Given the description of an element on the screen output the (x, y) to click on. 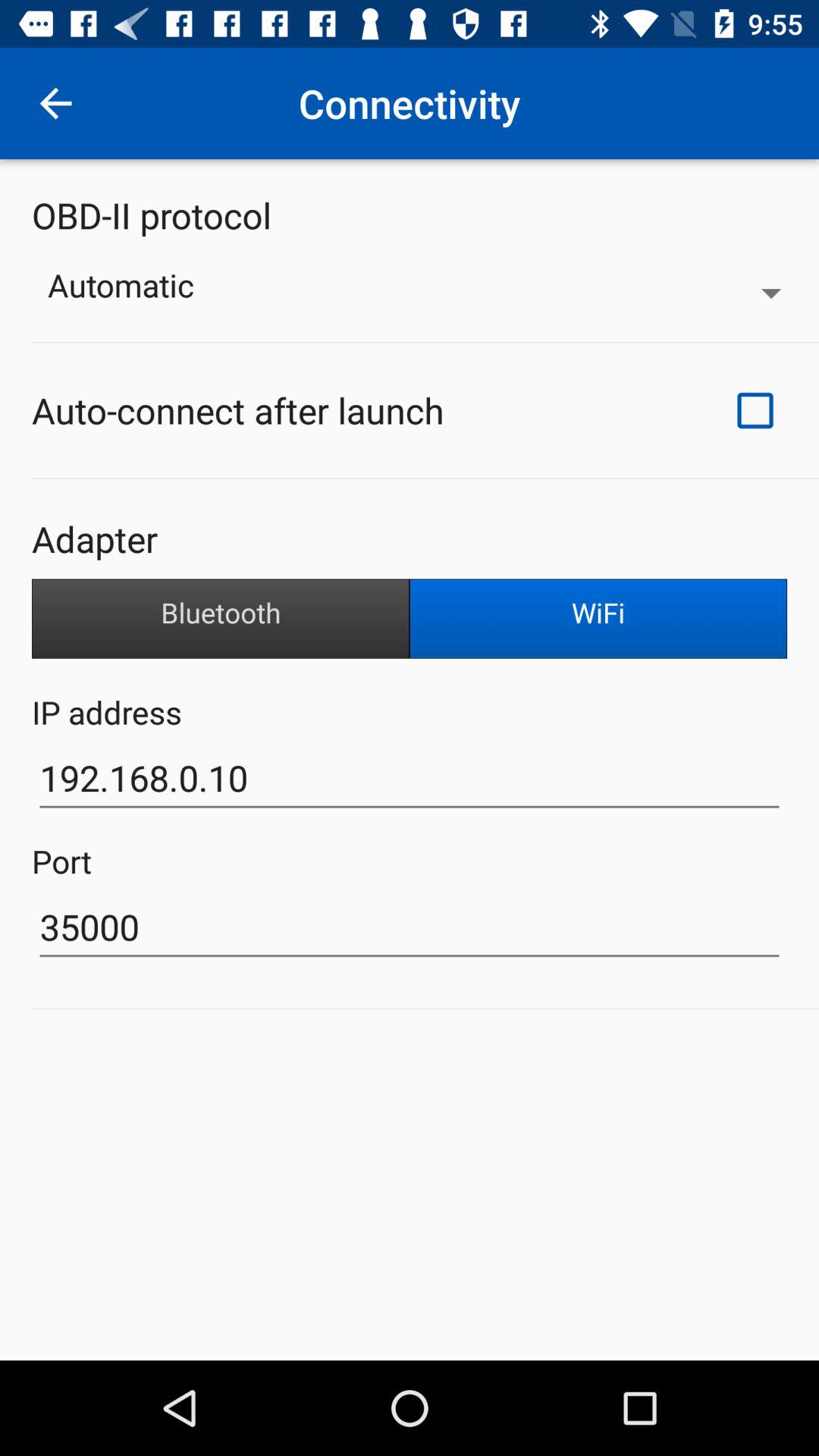
select icon above the ip address (220, 618)
